Given the description of an element on the screen output the (x, y) to click on. 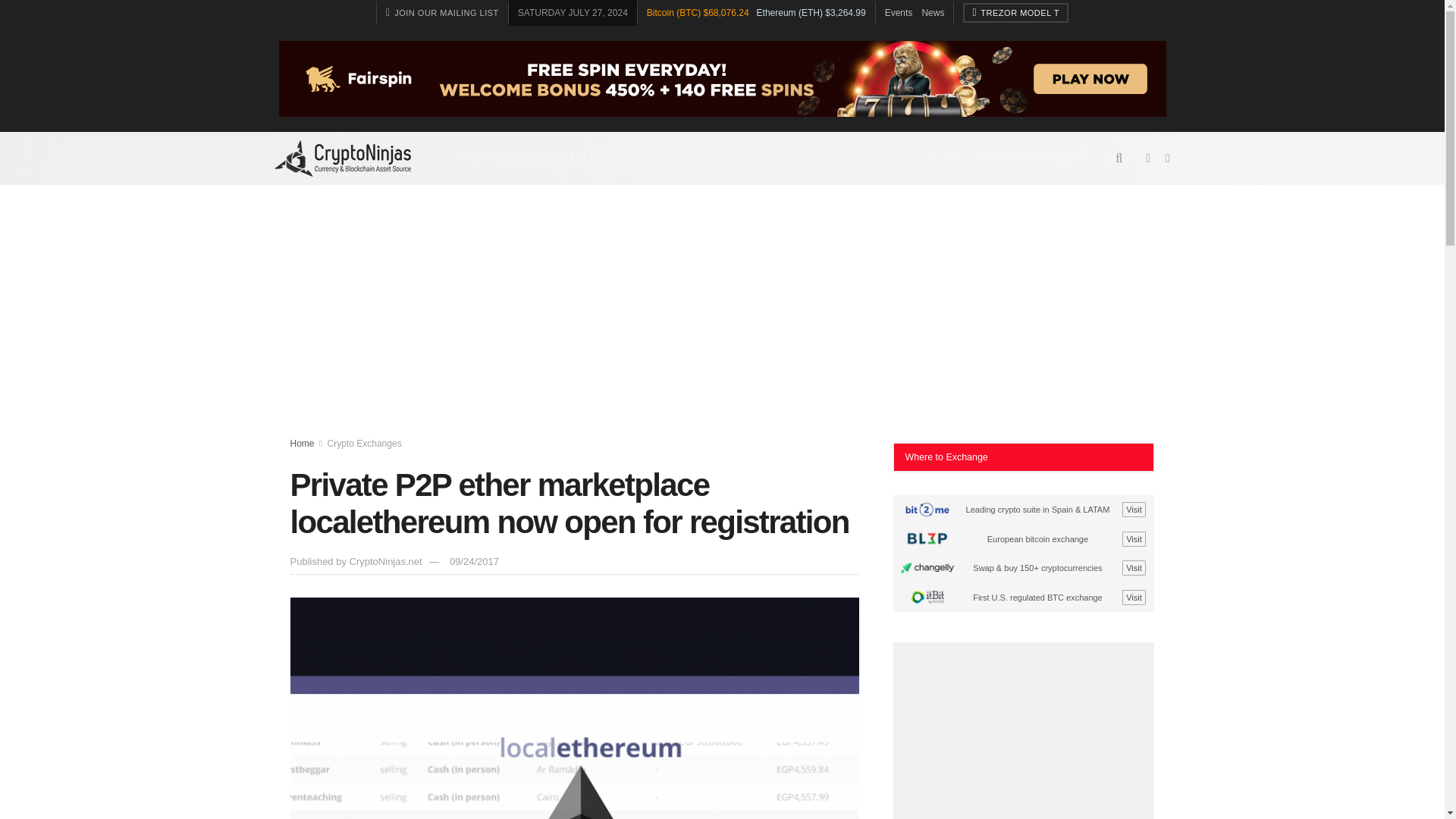
Home (301, 443)
JOIN OUR MAILING LIST (442, 12)
Events (898, 12)
TREZOR MODEL T (1015, 12)
Crypto Exchanges (364, 443)
BITCOIN ATM MAP (854, 158)
News (932, 12)
3rd party ad content (1023, 738)
REAL-TIME MARKET DATA (713, 158)
